Given the description of an element on the screen output the (x, y) to click on. 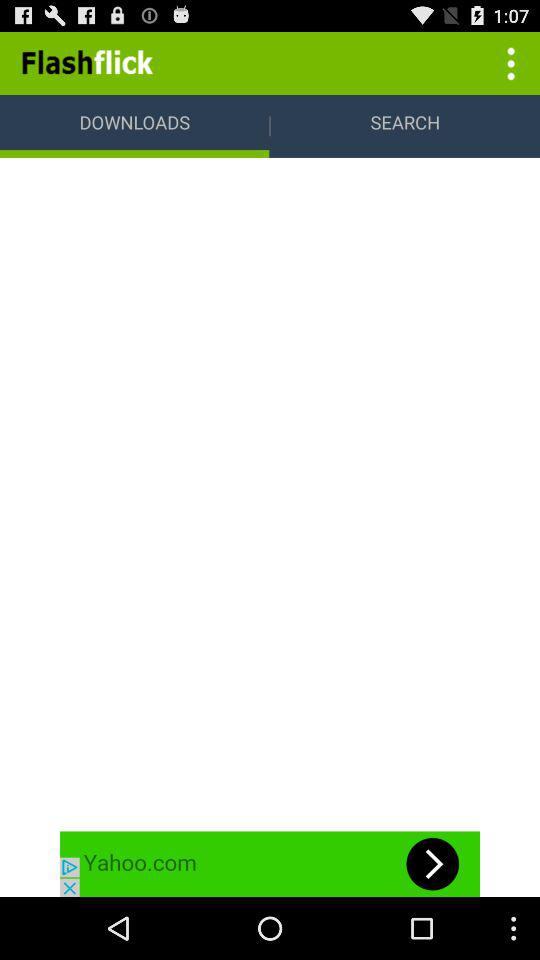
menu (508, 62)
